Given the description of an element on the screen output the (x, y) to click on. 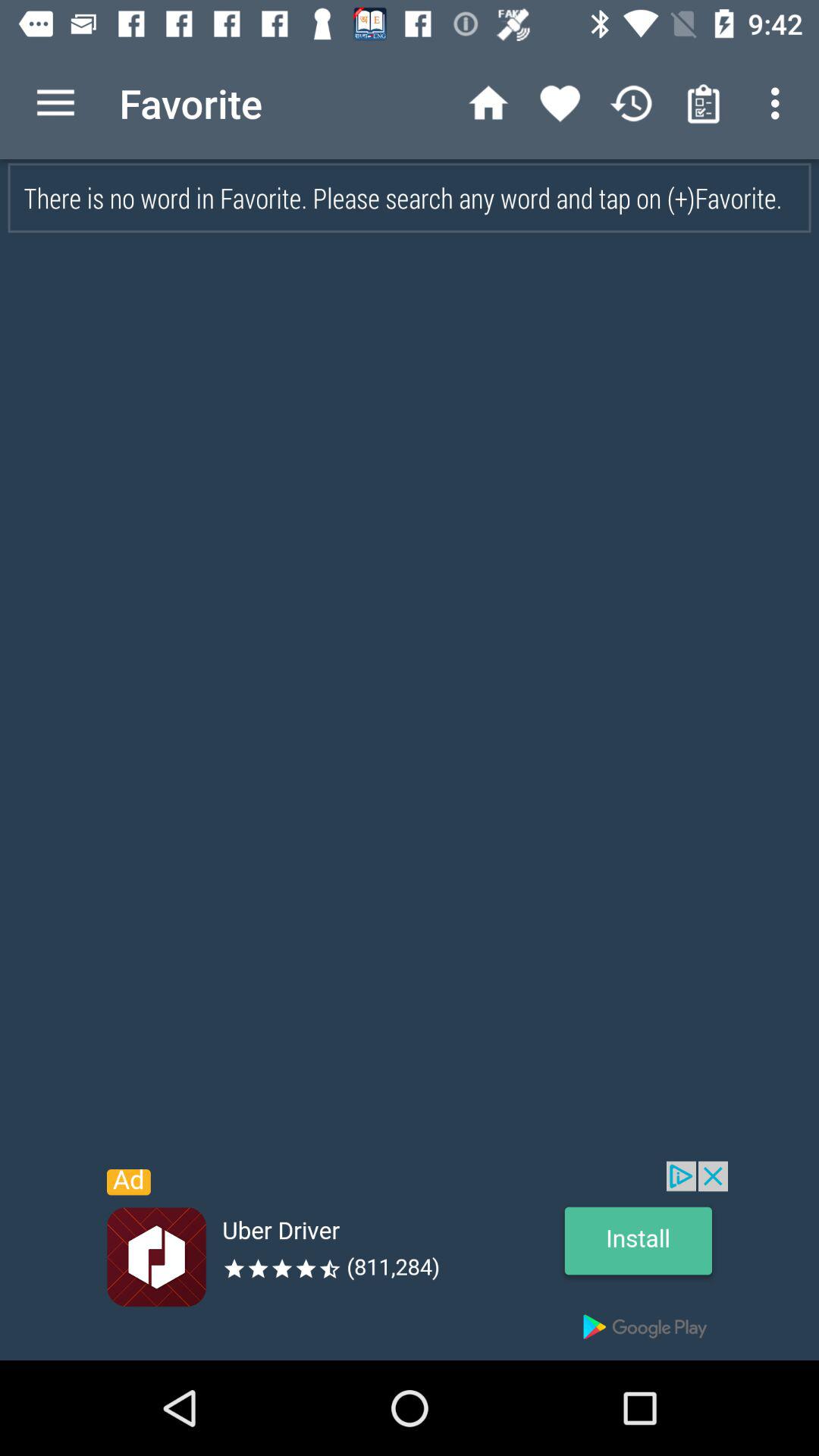
install uber driver app (409, 1260)
